Given the description of an element on the screen output the (x, y) to click on. 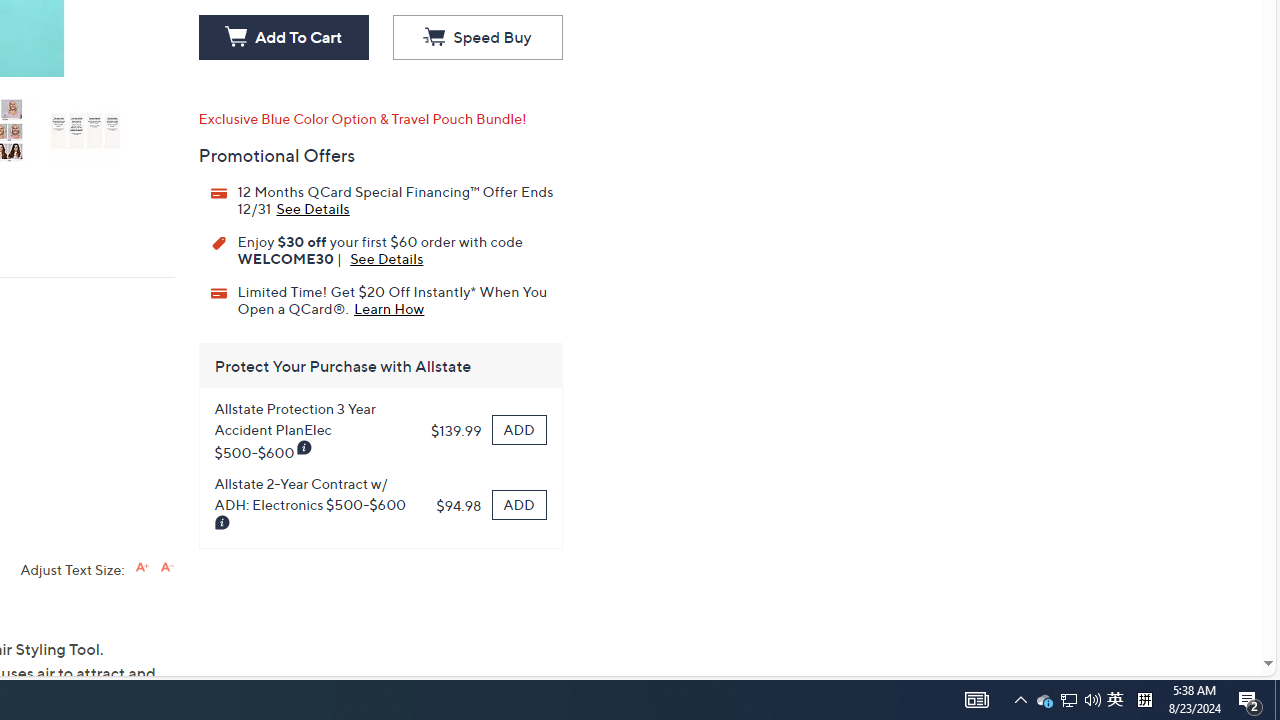
User Promoted Notification Area (1068, 699)
Tray Input Indicator - Chinese (Simplified, China) (1144, 699)
Q2790: 100% (1092, 699)
12 Months QCard Special Financing Offer Ends 12/31 (312, 207)
Class: infoIcon fancybox fancybox.ajax (222, 523)
Decrease font size (166, 566)
See Details (386, 258)
Add To Cart (283, 38)
